Given the description of an element on the screen output the (x, y) to click on. 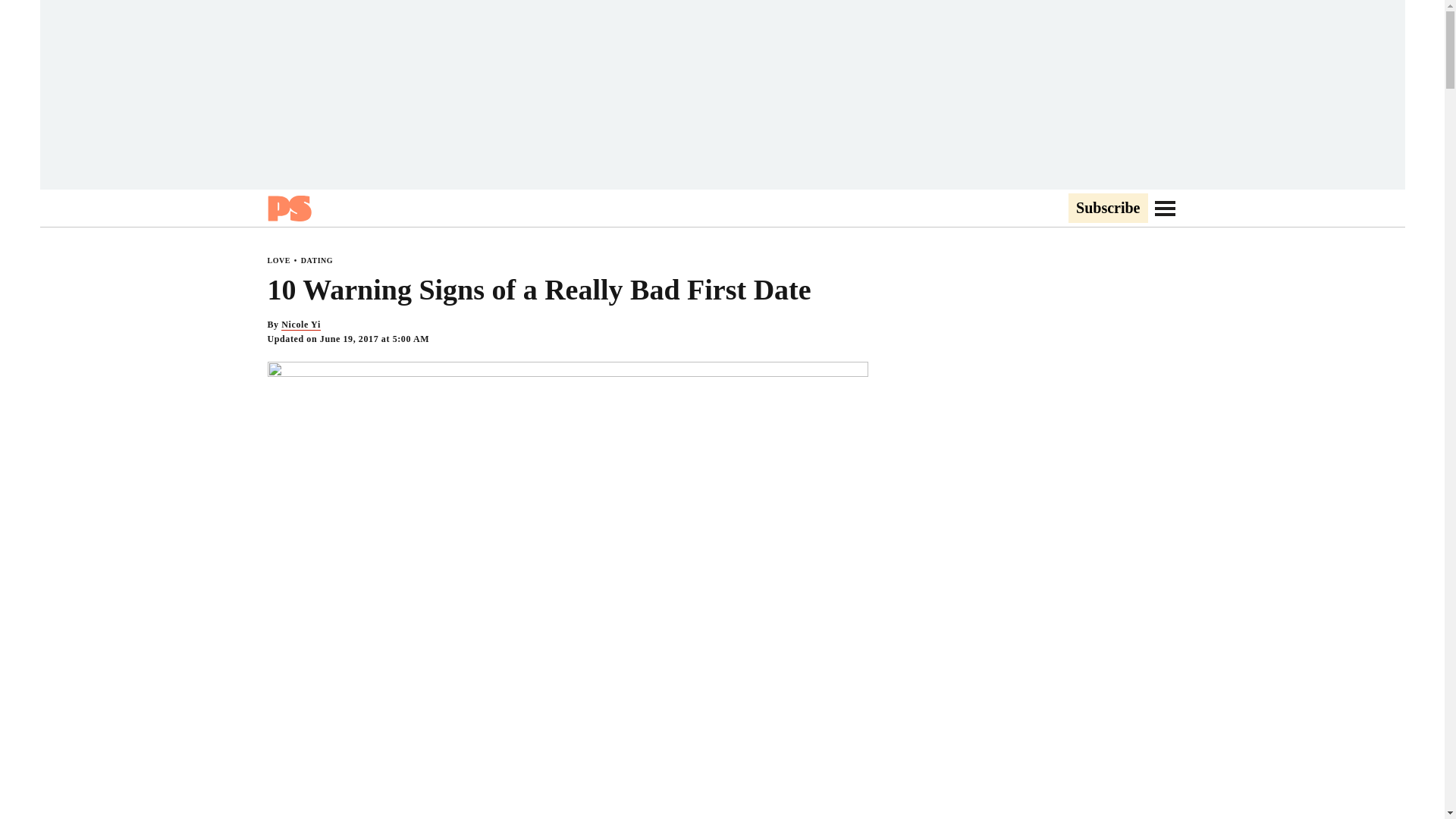
Nicole Yi (300, 324)
Go to Navigation (1164, 207)
LOVE (277, 260)
DATING (317, 260)
Go to Navigation (1164, 207)
Subscribe (1107, 208)
Popsugar (288, 208)
